Given the description of an element on the screen output the (x, y) to click on. 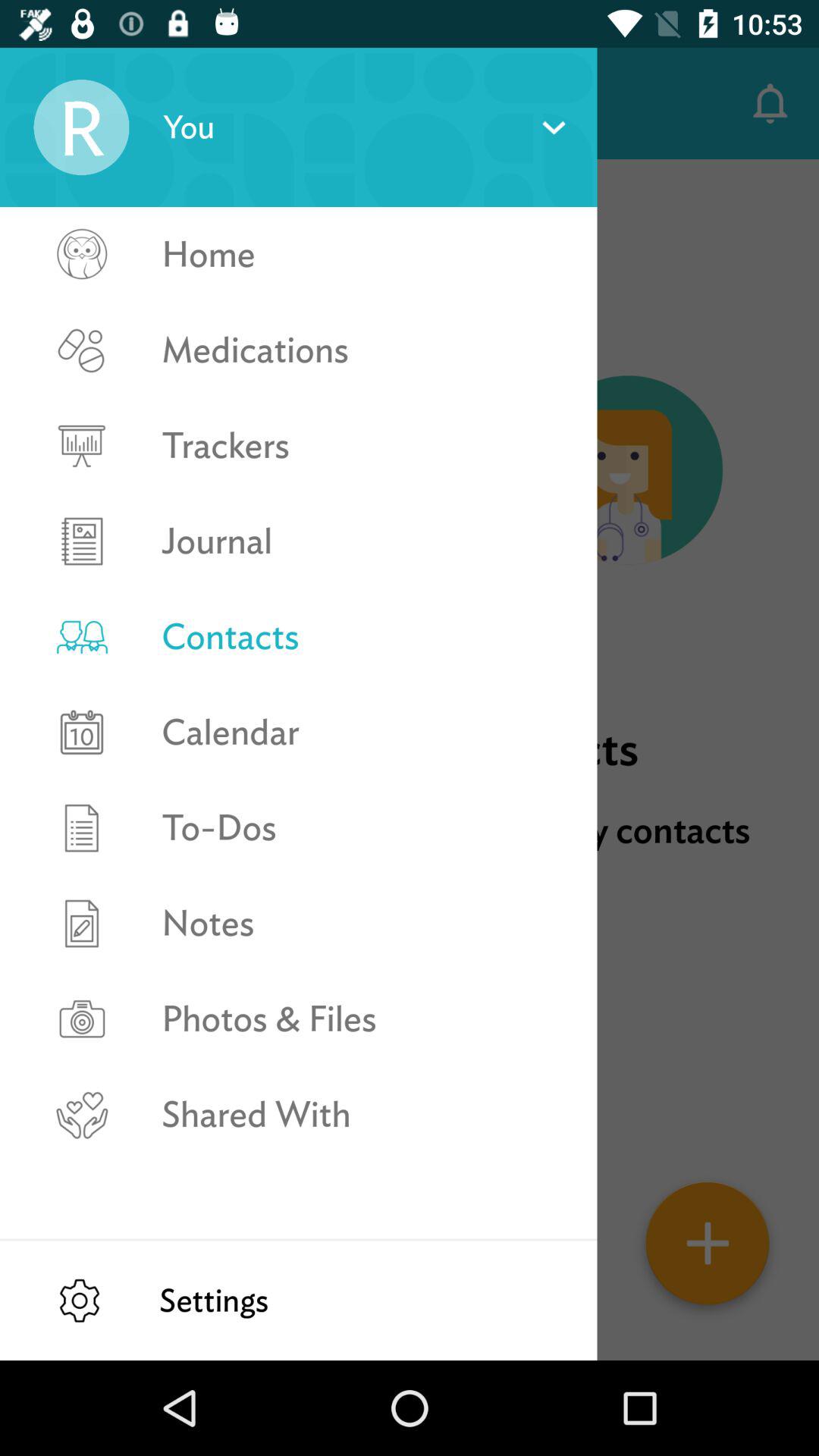
select the photos & files icon (363, 1018)
